Given the description of an element on the screen output the (x, y) to click on. 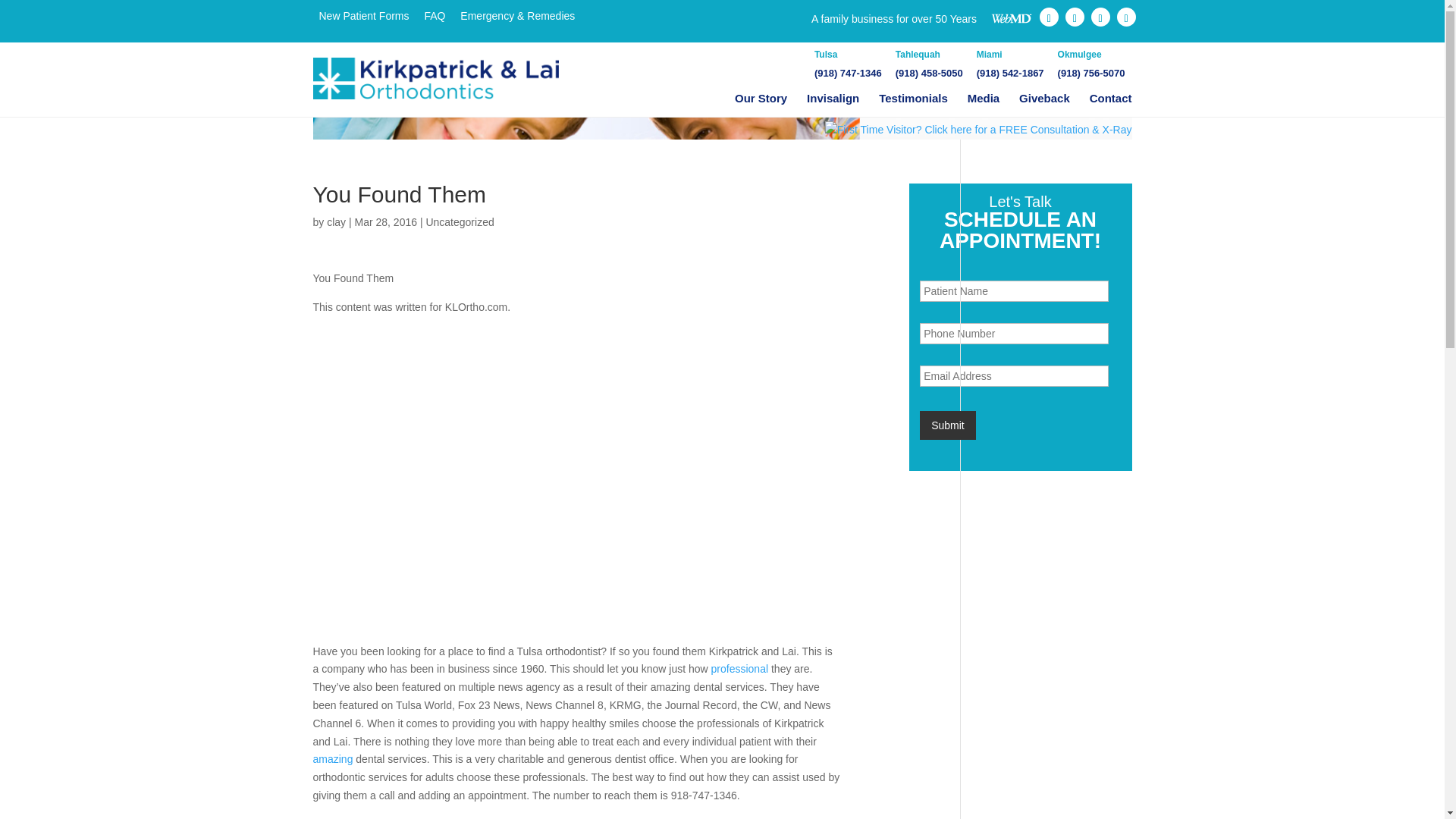
clay (336, 222)
Invisalign (832, 98)
Contact (1110, 98)
Submit (947, 425)
amazing (334, 758)
Giveback (1044, 98)
New Patient Forms (363, 15)
Media (984, 98)
Our Story (761, 98)
Testimonials (913, 98)
